Given the description of an element on the screen output the (x, y) to click on. 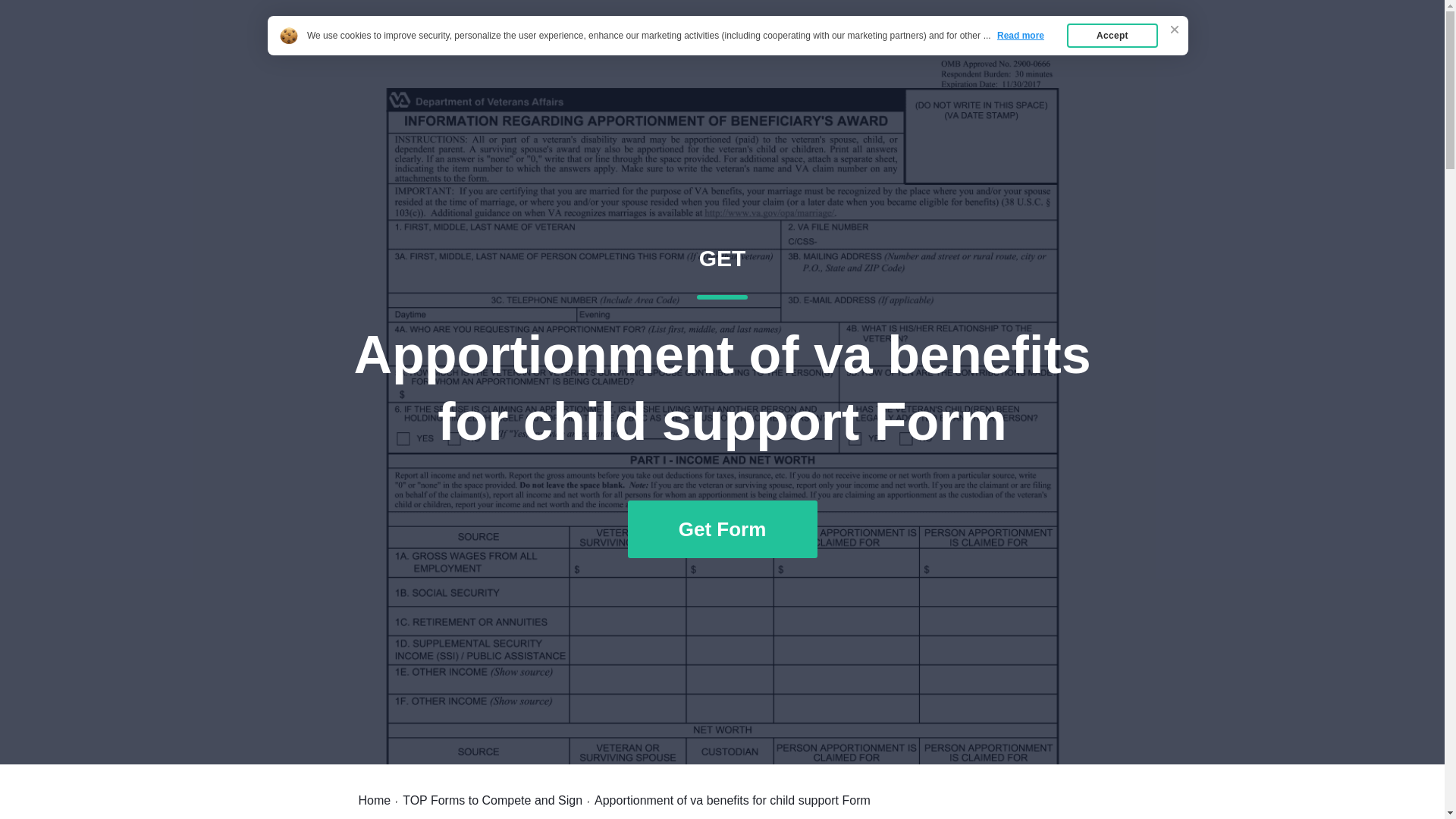
Home (987, 47)
Va 21 0788 Form (424, 46)
Home (374, 800)
Top Forms (1062, 47)
TOP Forms to Compete and Sign (492, 800)
